Given the description of an element on the screen output the (x, y) to click on. 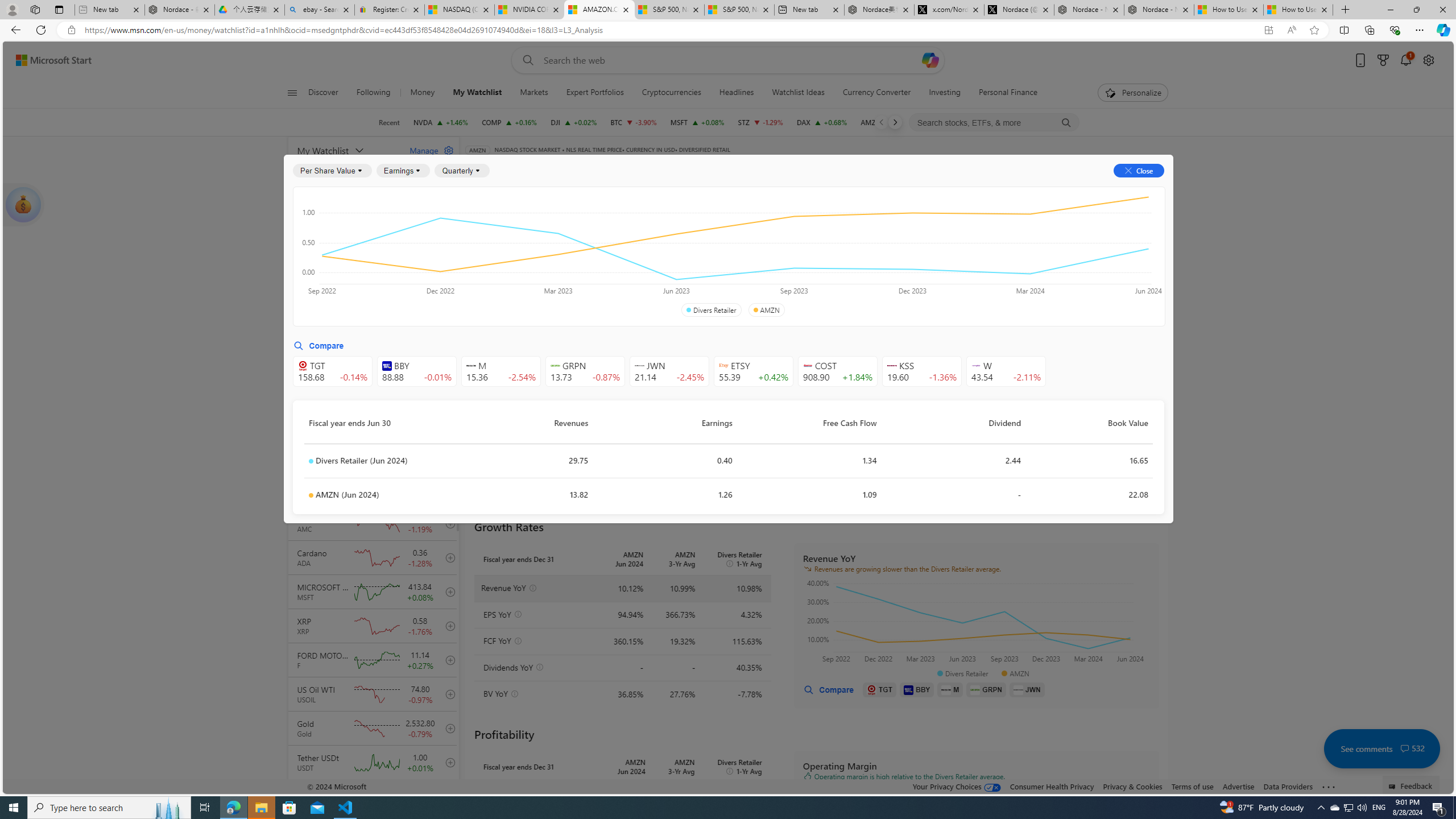
Microsoft Start (53, 60)
Advertise (1238, 786)
Personal Finance (1008, 92)
Headlines (736, 92)
add to your watchlist (447, 796)
Recent (389, 121)
Class: oneFooter_seeMore-DS-EntryPoint1-1 (1328, 786)
Privacy & Cookies (1131, 786)
Notifications (1405, 60)
BTC Bitcoin decrease 59,996.99 -2,337.48 -3.90% (632, 122)
Income Statement (550, 223)
